Given the description of an element on the screen output the (x, y) to click on. 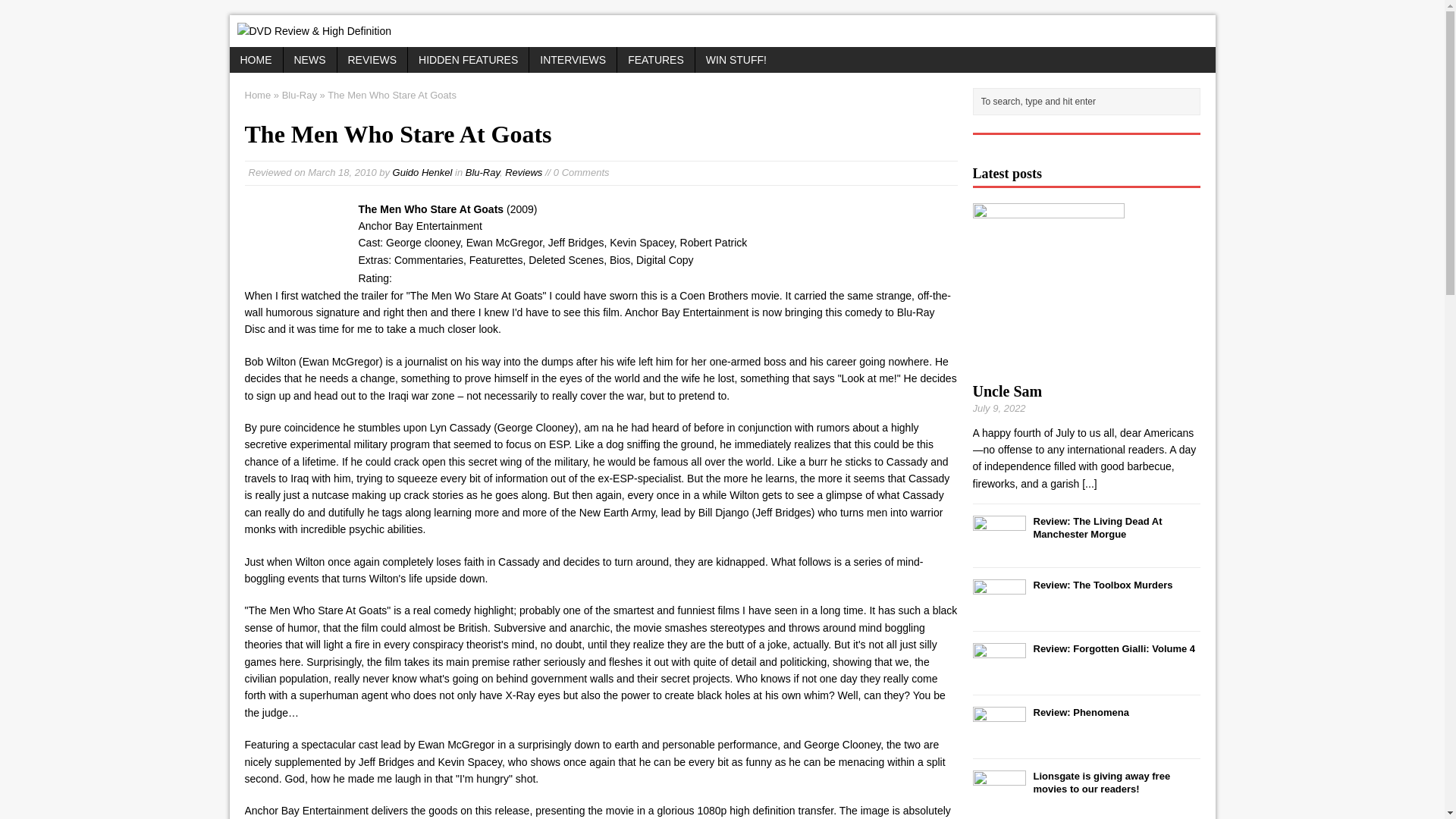
HOME (255, 59)
Uncle Sam (1048, 364)
To search, type and hit enter (1089, 101)
The Toolbox Murders (998, 610)
Uncle Sam (1007, 391)
Guido Henkel (422, 172)
Uncle Sam (1007, 391)
FEATURES (655, 59)
The Living Dead At Manchester Morgue (1096, 527)
Reviews (523, 172)
Home (257, 94)
Uncle Sam (1088, 483)
Blu-Ray (482, 172)
Review: The Living Dead At Manchester Morgue (1096, 527)
The Living Dead At Manchester Morgue (998, 546)
